Given the description of an element on the screen output the (x, y) to click on. 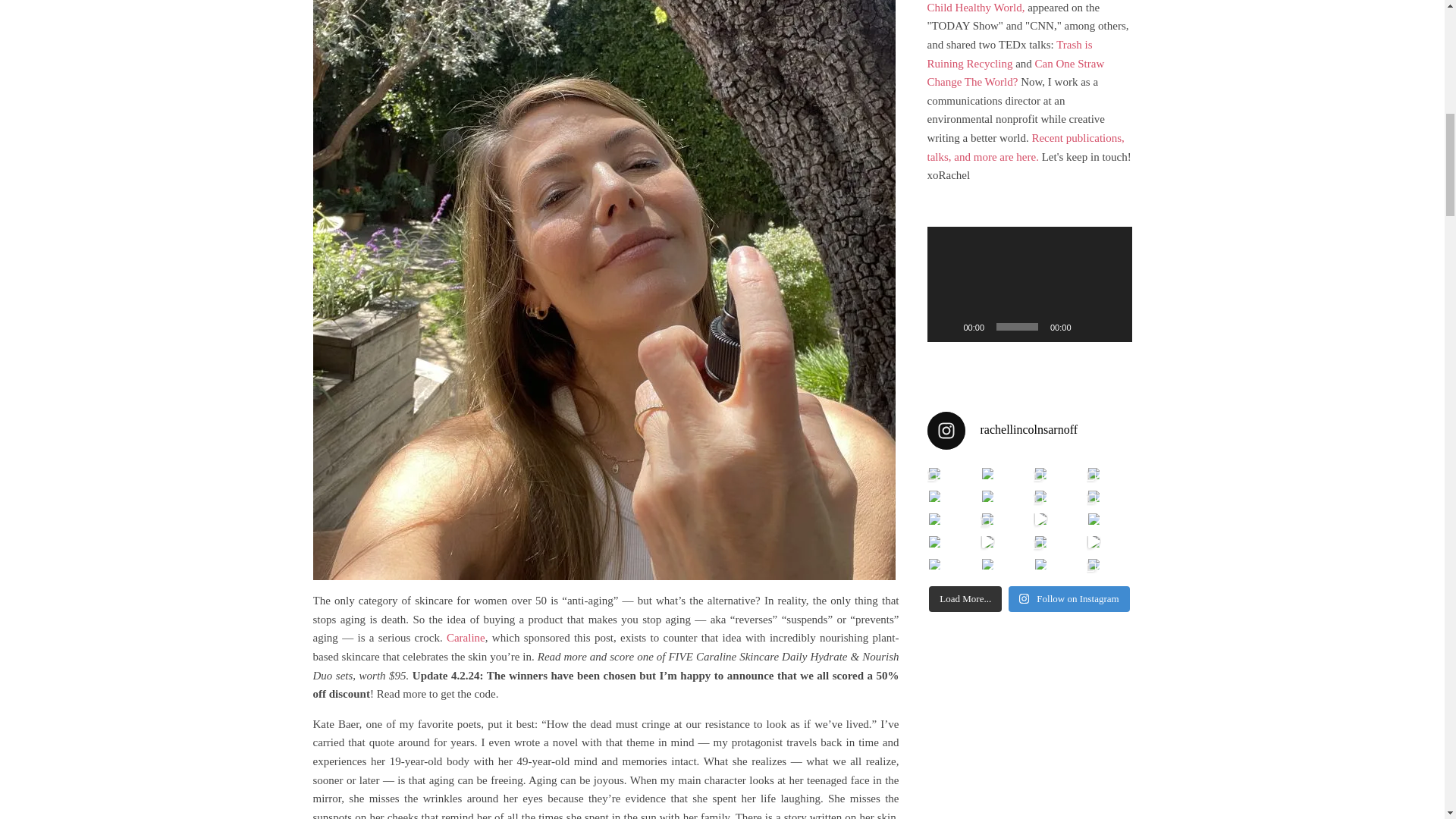
Fullscreen (1111, 326)
Play (946, 326)
Mute (1087, 326)
